Given the description of an element on the screen output the (x, y) to click on. 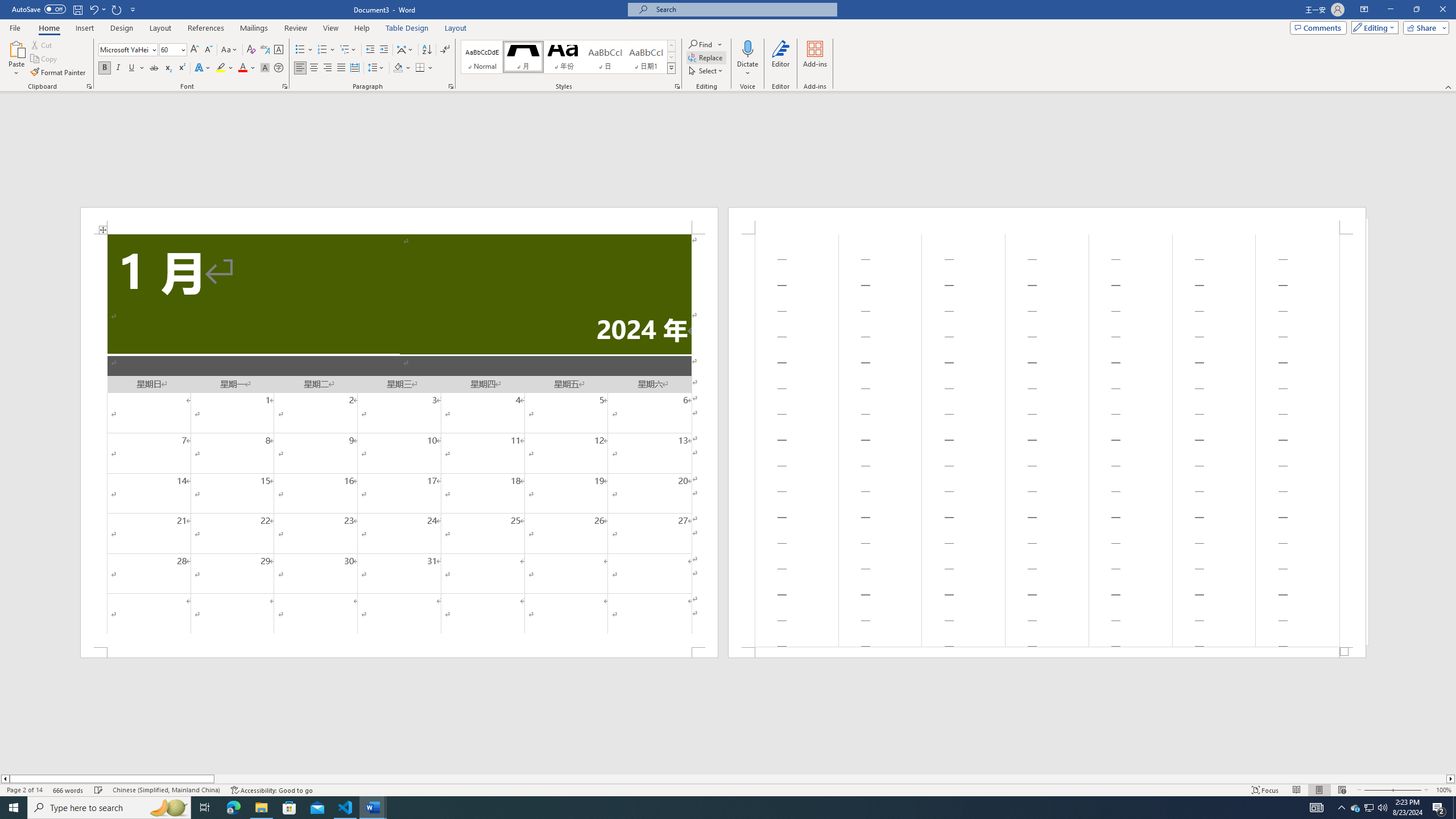
Web Layout (1342, 790)
Read Mode (1296, 790)
Align Left (300, 67)
Print Layout (1318, 790)
Language Chinese (Simplified, Mainland China) (165, 790)
Minimize (1390, 9)
Clear Formatting (250, 49)
Bullets (304, 49)
Numbering (326, 49)
Class: MsoCommandBar (728, 789)
Zoom Out (1377, 790)
Review (295, 28)
